Given the description of an element on the screen output the (x, y) to click on. 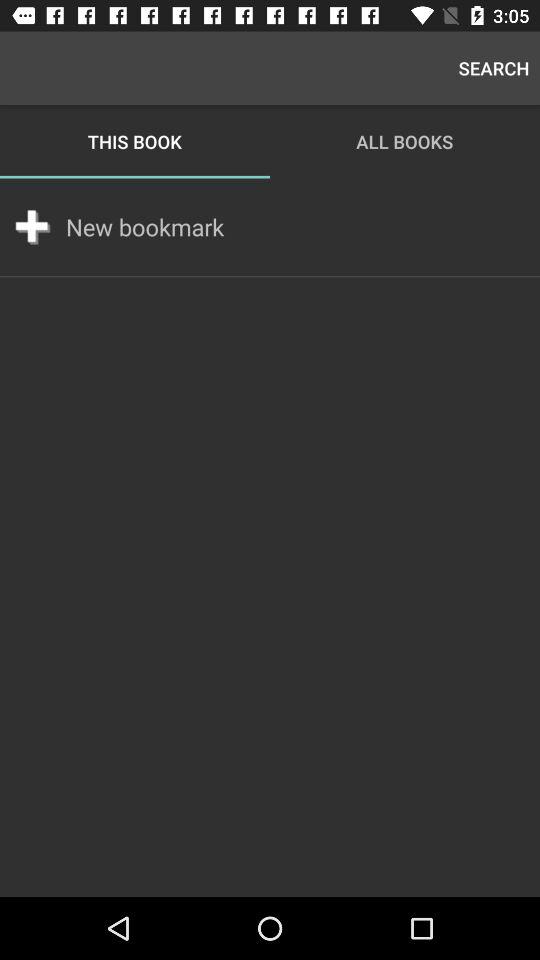
tap app next to the new bookmark (32, 226)
